Given the description of an element on the screen output the (x, y) to click on. 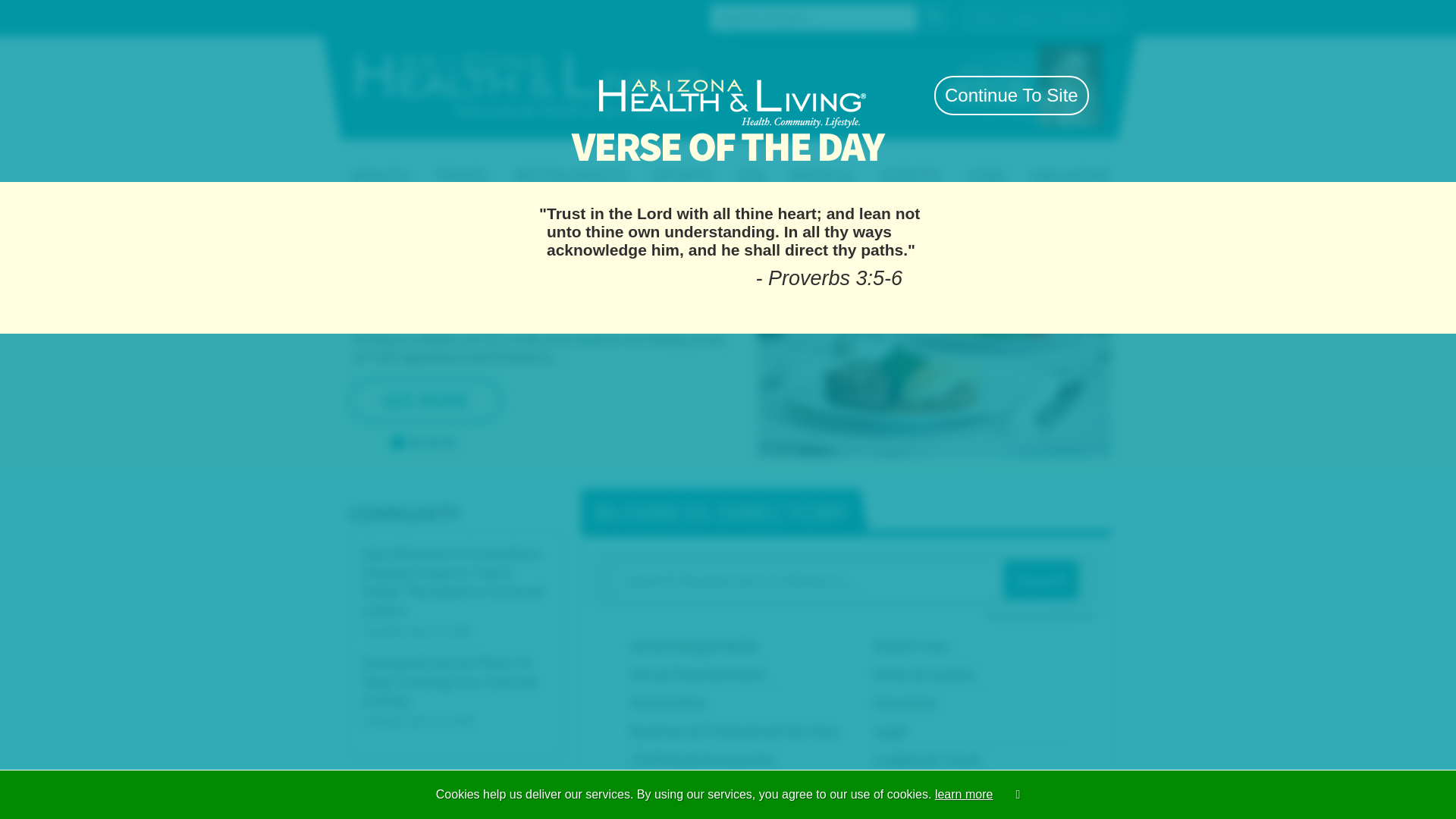
EVENTS (986, 160)
Sign In (1047, 16)
SHOP (872, 160)
Home (396, 16)
View Trending Stories (780, 205)
view all (1036, 225)
Join Community (965, 16)
BLOG (1101, 160)
HEALTH (424, 160)
LIVING (541, 160)
Contact Us (442, 16)
FOOD (771, 160)
advertise (927, 93)
List, Post and Share (727, 128)
